Given the description of an element on the screen output the (x, y) to click on. 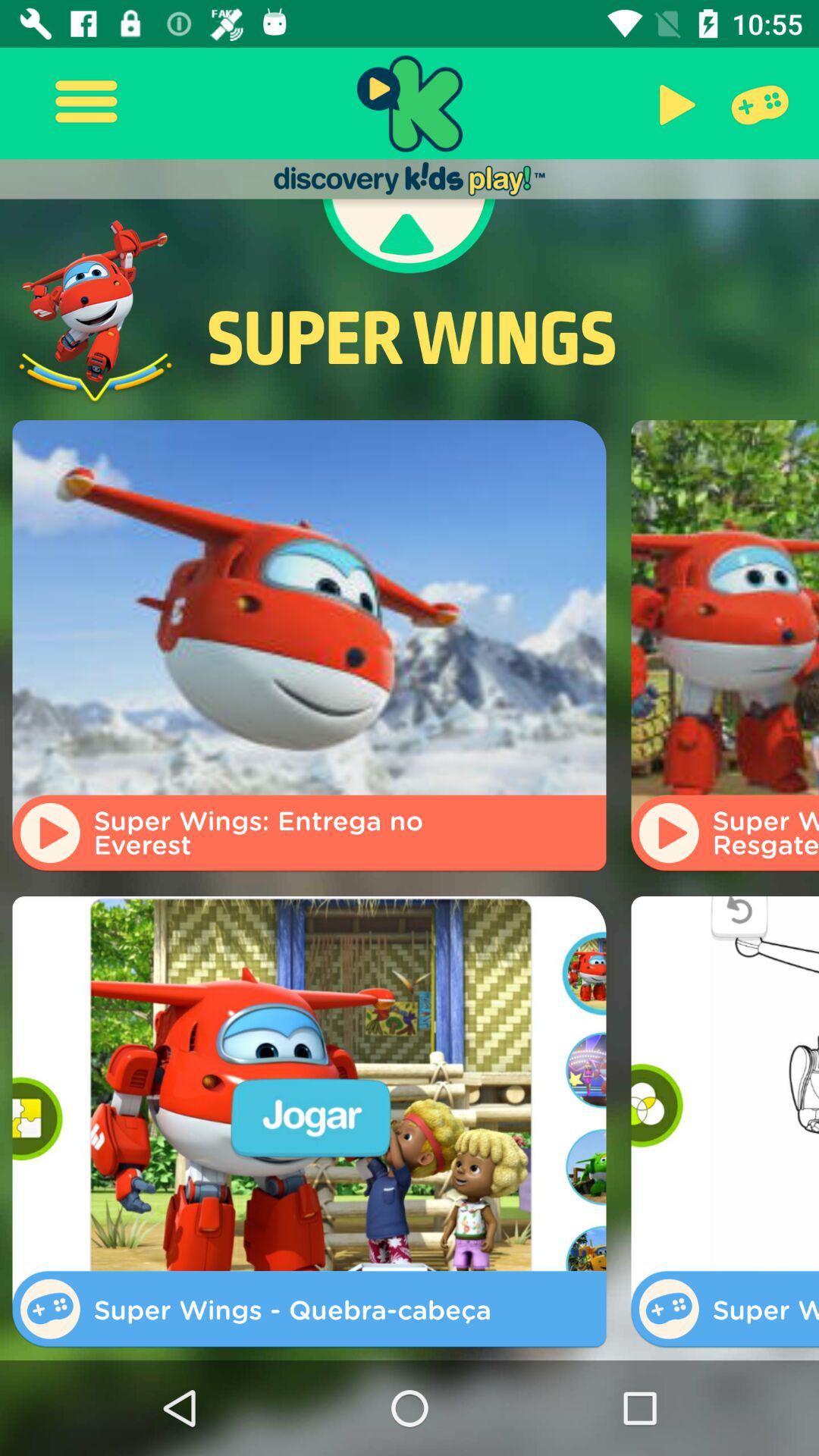
open the icon above super wings item (673, 102)
